Given the description of an element on the screen output the (x, y) to click on. 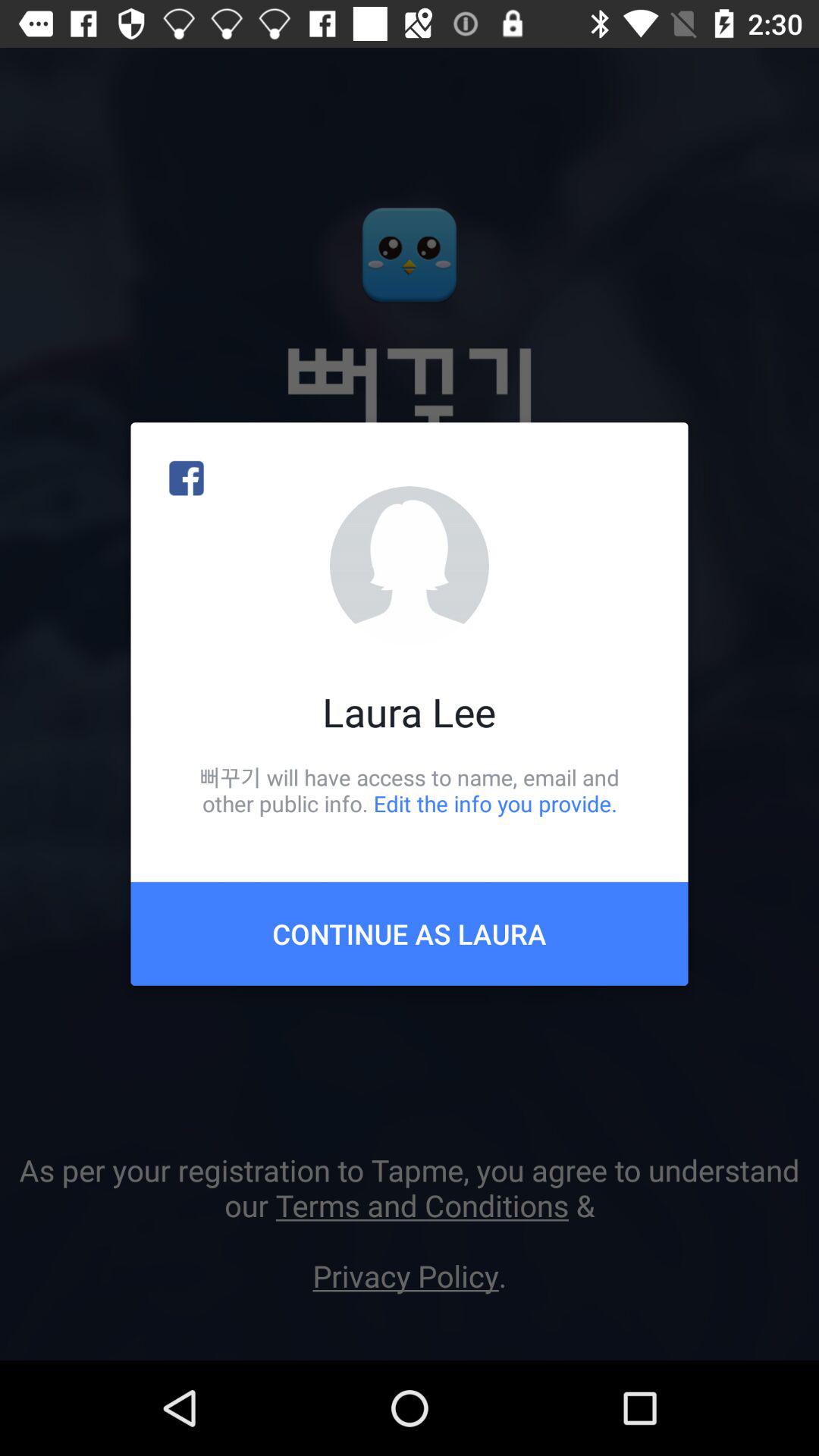
choose continue as laura item (409, 933)
